Given the description of an element on the screen output the (x, y) to click on. 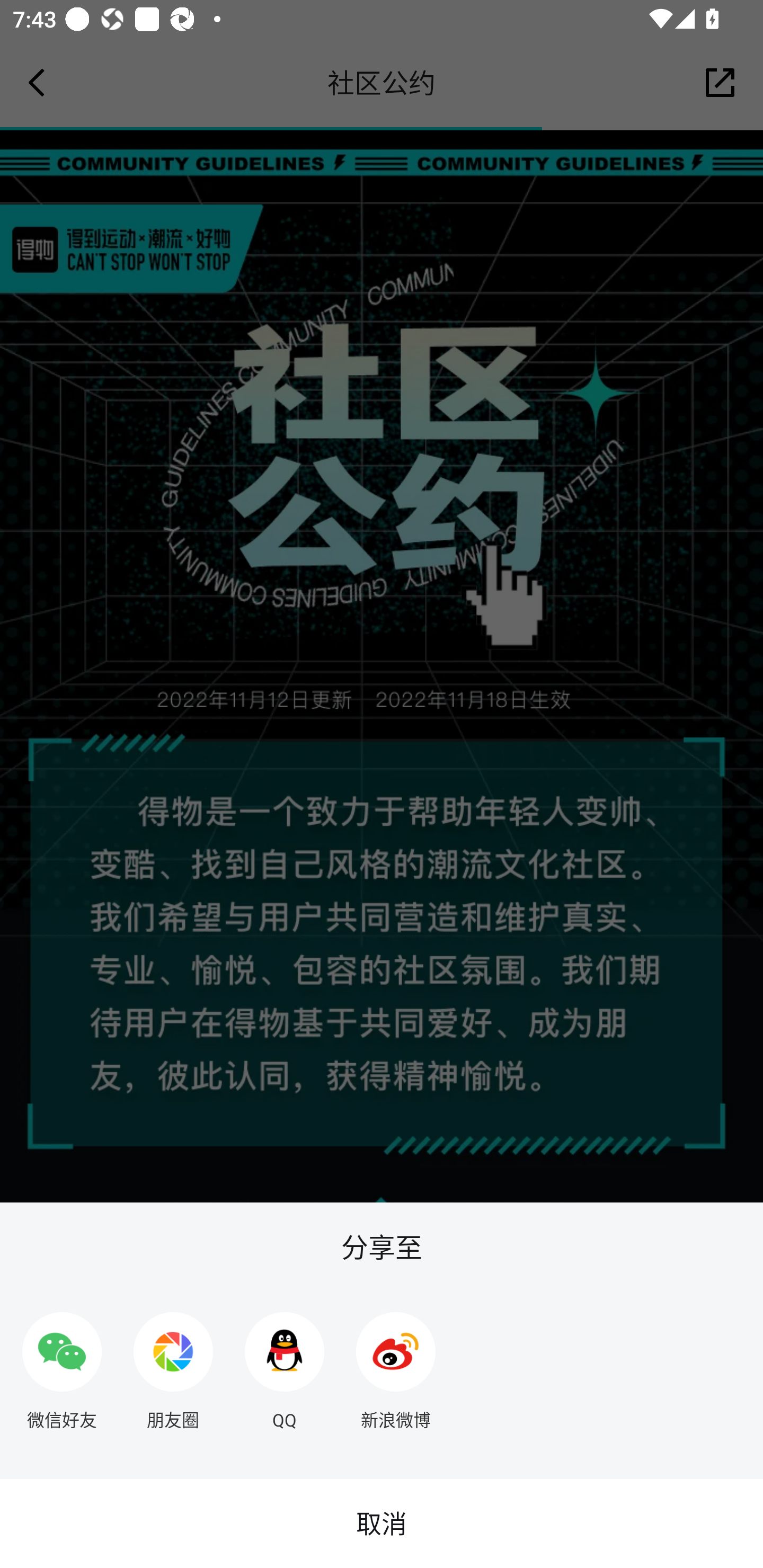
微信好友 (61, 1363)
朋友圈 (172, 1363)
QQ (284, 1363)
新浪微博 (395, 1363)
取消 (381, 1523)
